Given the description of an element on the screen output the (x, y) to click on. 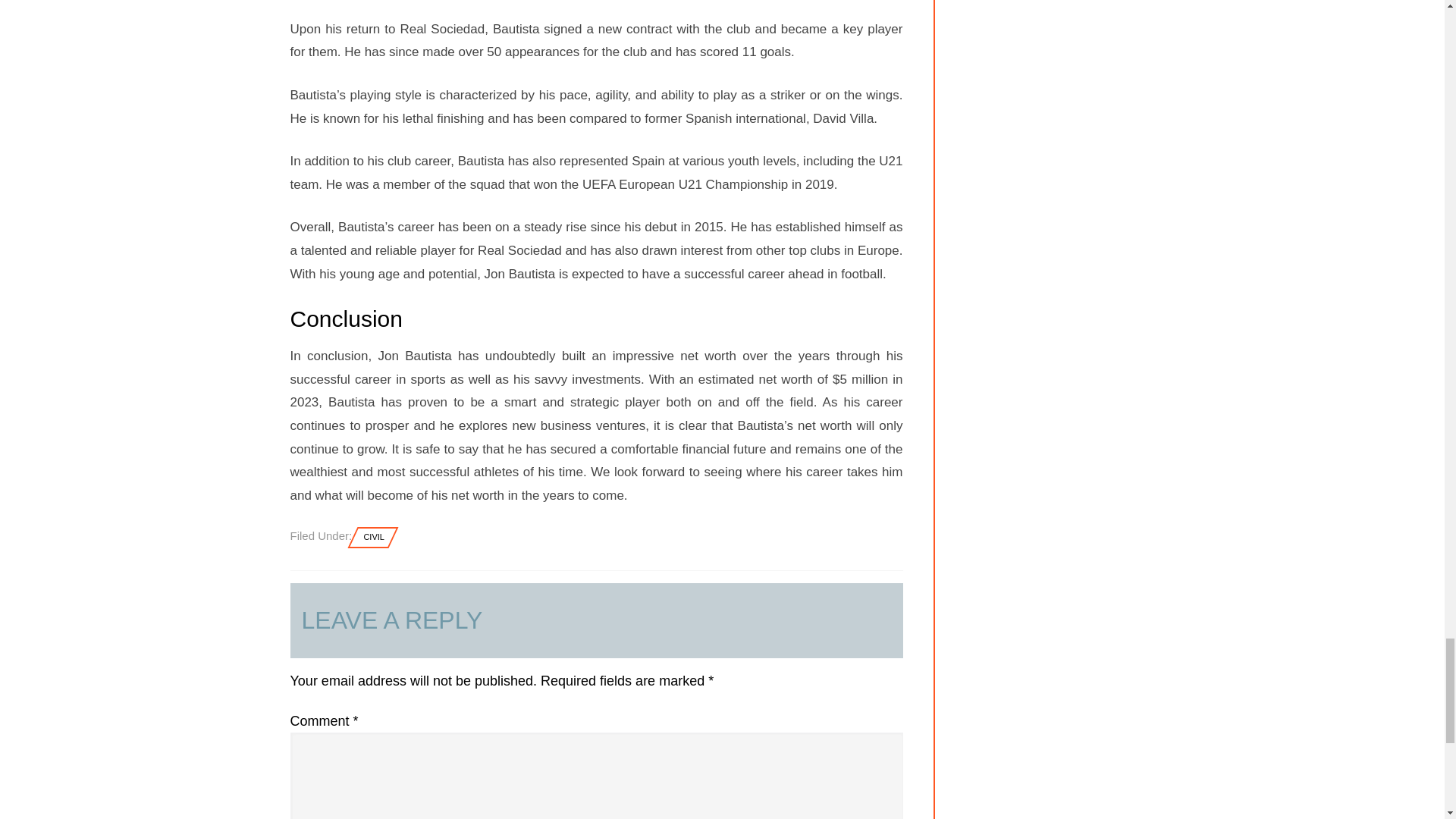
CIVIL (374, 537)
